Given the description of an element on the screen output the (x, y) to click on. 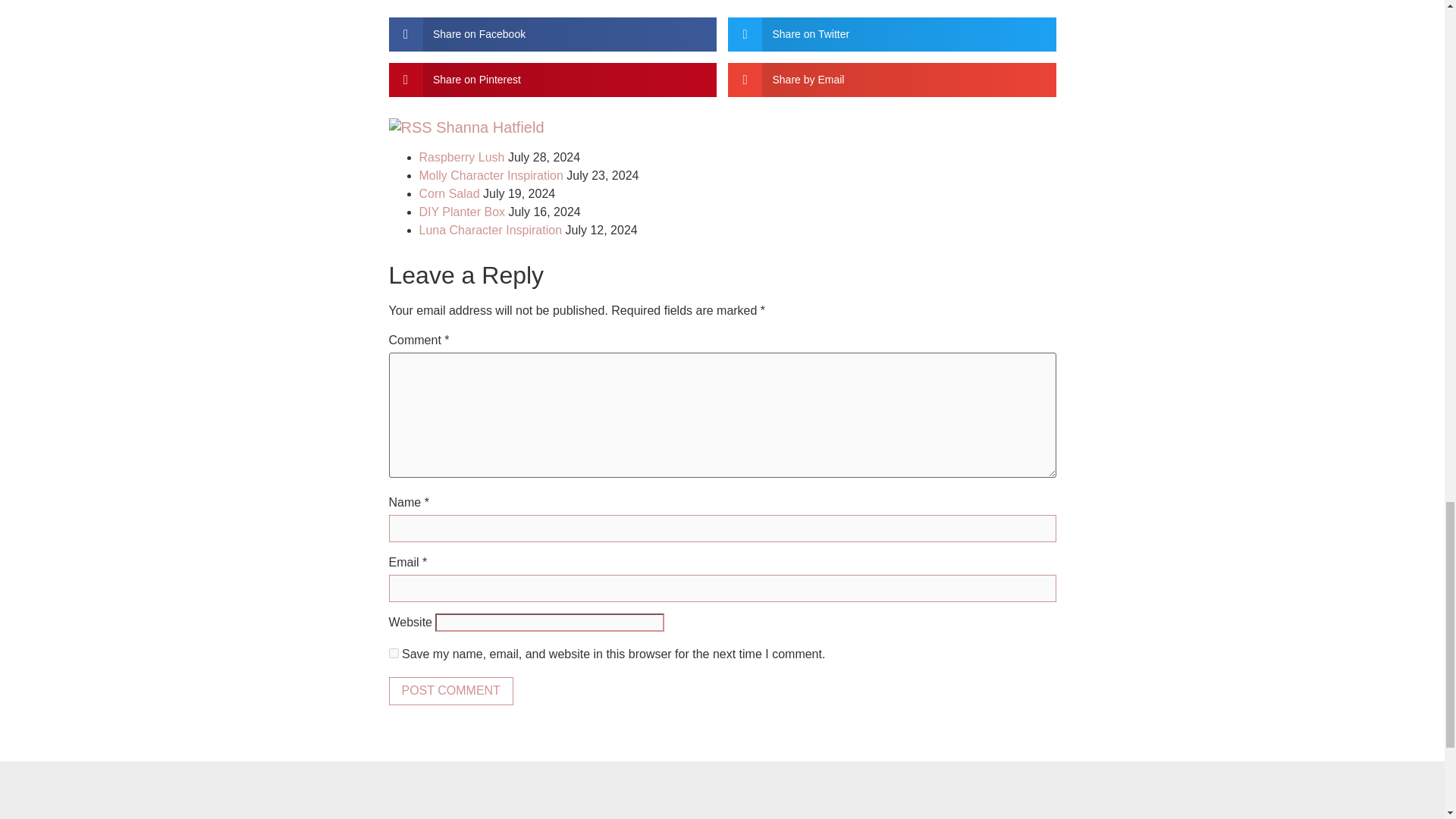
Corn Salad (449, 193)
Shanna Hatfield (489, 126)
Raspberry Lush (461, 156)
yes (392, 653)
Molly Character Inspiration (490, 174)
Post Comment (450, 690)
Post Comment (450, 690)
Luna Character Inspiration (490, 229)
DIY Planter Box (462, 211)
